Given the description of an element on the screen output the (x, y) to click on. 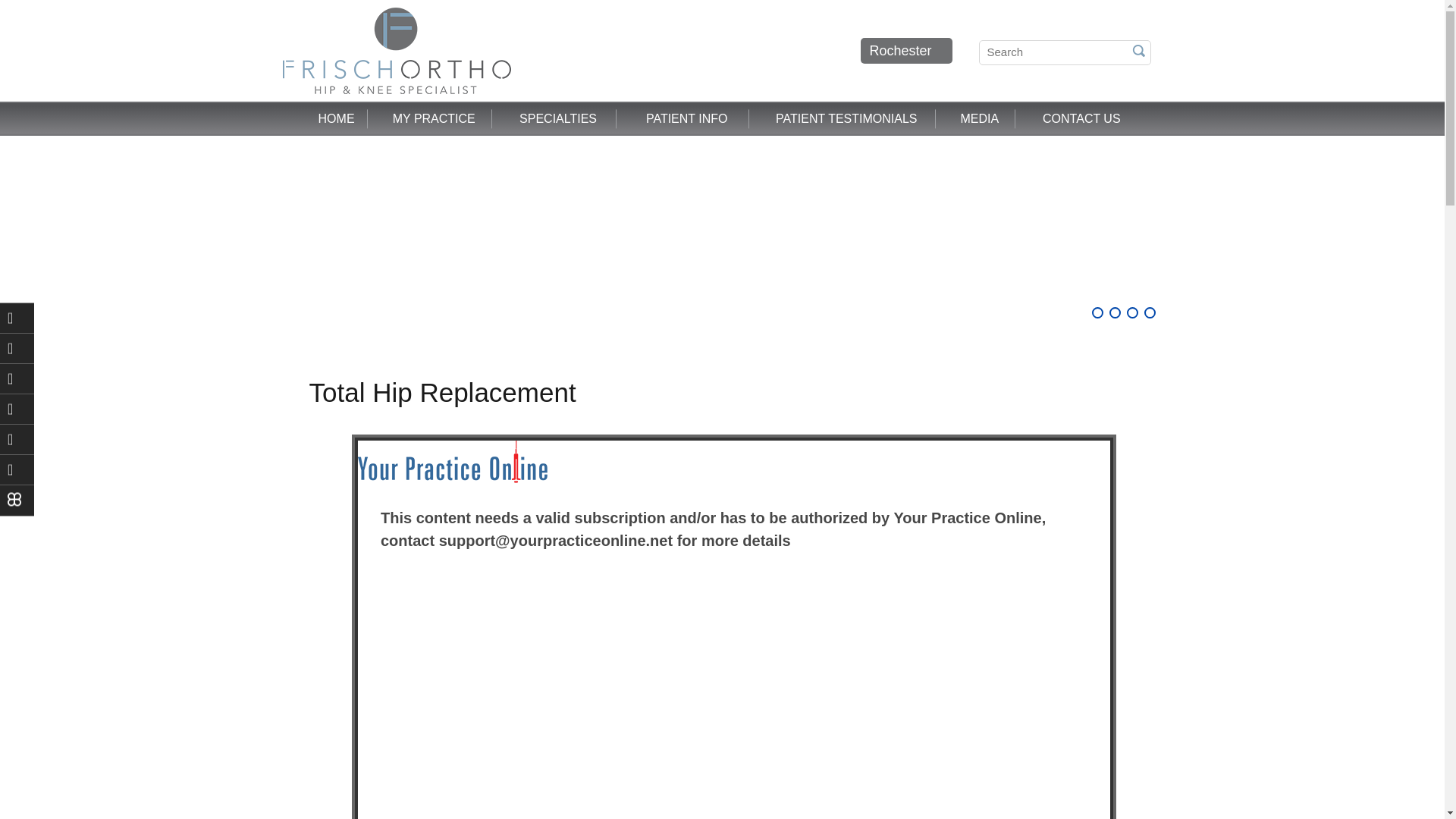
Search (1064, 51)
Submit (1137, 50)
PATIENT INFO (687, 119)
Submit (1137, 50)
HOME (336, 119)
Submit (1137, 28)
MY PRACTICE (433, 119)
SPECIALTIES (558, 119)
